Given the description of an element on the screen output the (x, y) to click on. 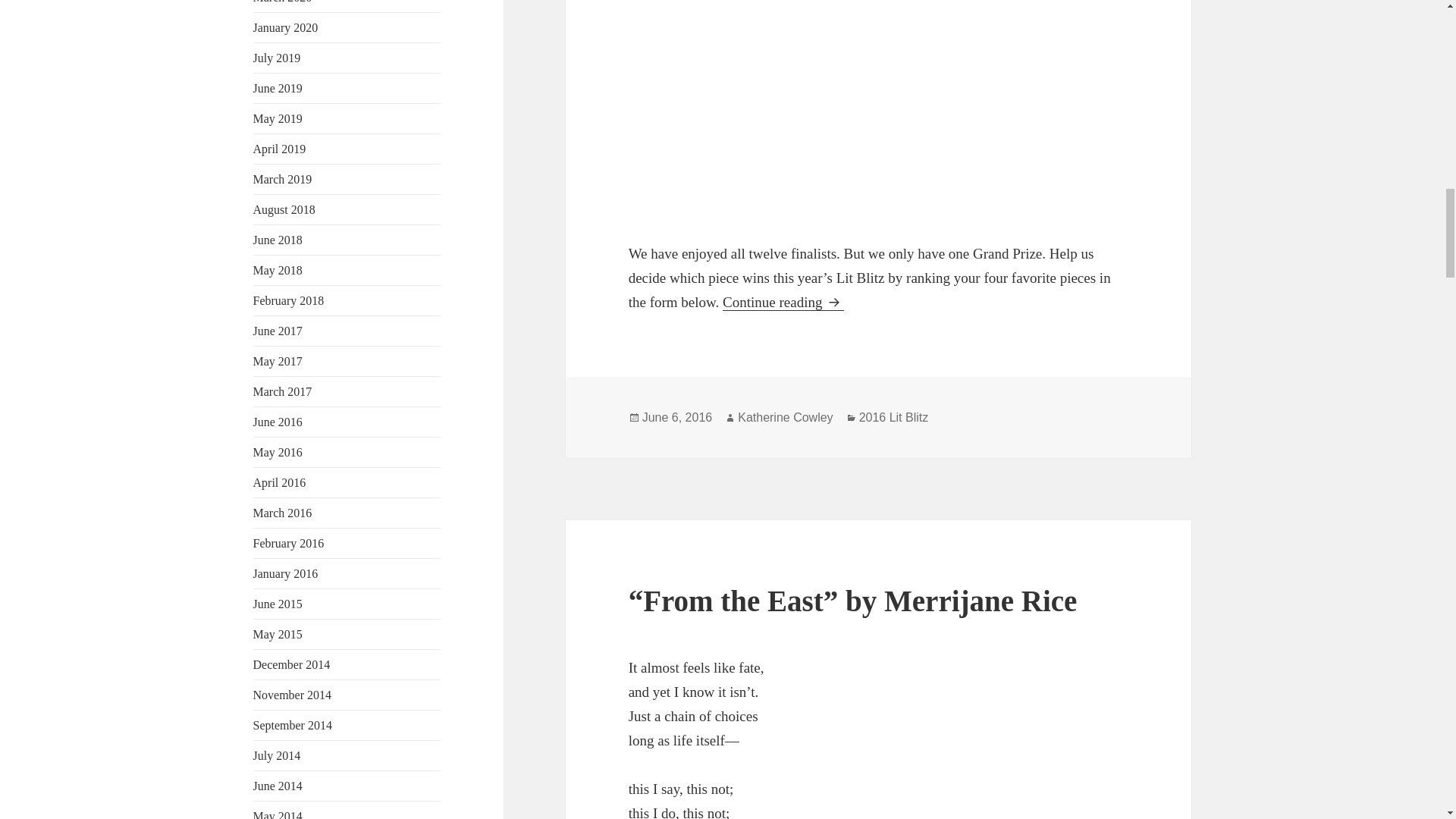
January 2020 (285, 27)
July 2019 (277, 57)
May 2019 (277, 118)
June 2019 (277, 88)
April 2019 (279, 148)
March 2020 (283, 2)
